Given the description of an element on the screen output the (x, y) to click on. 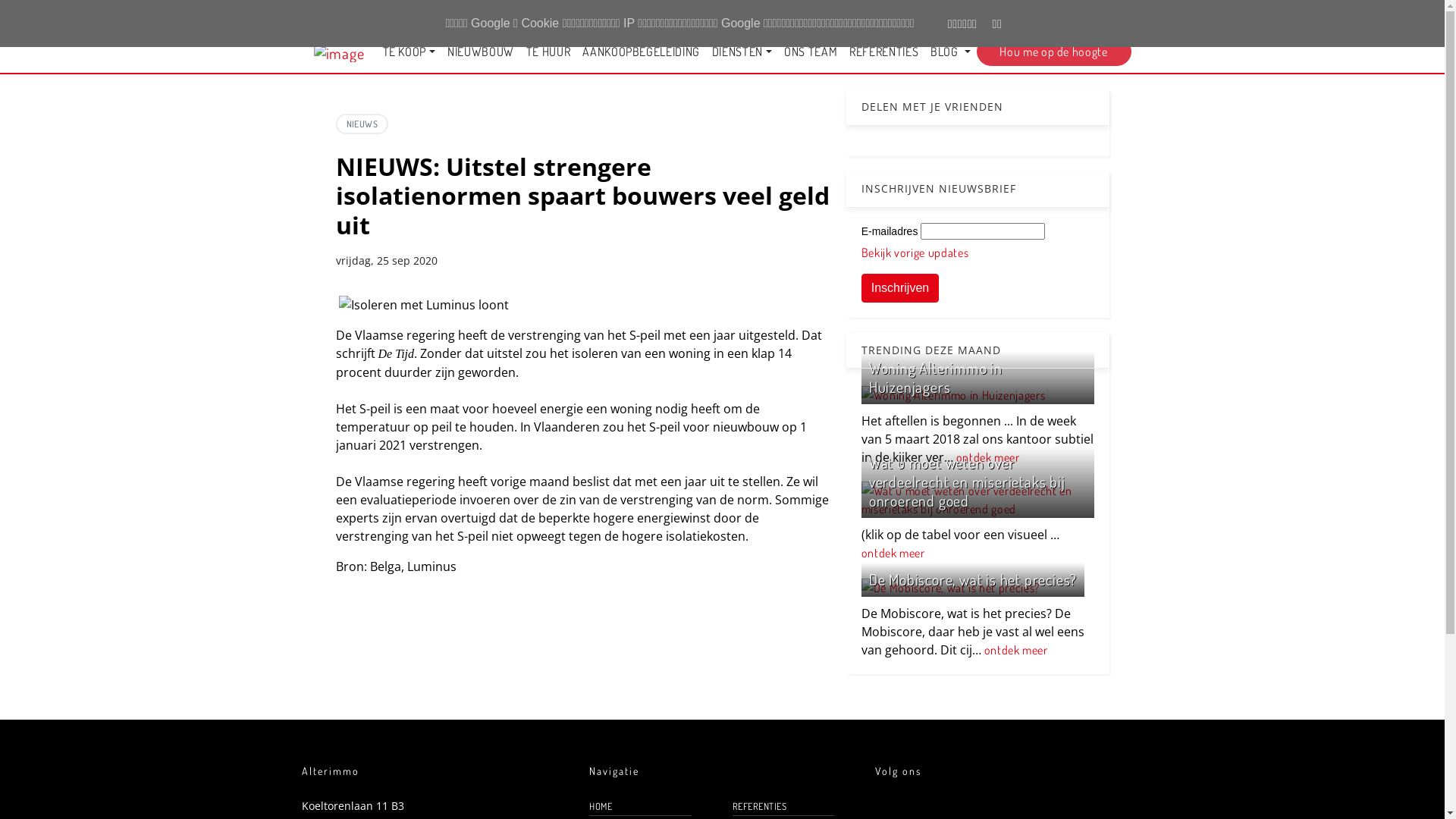
  Element type: text (1138, 15)
Bekijk vorige updates Element type: text (914, 252)
De Mobiscore, wat is het precies? Element type: text (972, 579)
BLOG  Element type: text (949, 51)
REFERENTIES Element type: text (883, 51)
  Eigenaarslogin Element type: text (1039, 15)
  Element type: text (1129, 15)
HOME Element type: text (639, 806)
TE HUUR Element type: text (548, 51)
DIENSTEN Element type: text (742, 51)
REFERENTIES Element type: text (783, 806)
  Element type: text (1094, 15)
  Element type: text (1121, 15)
NIEUWBOUW Element type: text (480, 51)
Hou me op de hoogte Element type: text (1053, 51)
ontdek meer Element type: text (1016, 649)
ontdek meer Element type: text (893, 552)
  Element type: text (1102, 15)
ontdek meer Element type: text (987, 456)
  Contacteer ons Element type: text (953, 15)
  Element type: text (1112, 15)
AANKOOPBEGELEIDING Element type: text (641, 51)
Inschrijven Element type: text (899, 287)
ONS TEAM Element type: text (810, 51)
  Element type: text (1085, 15)
NIEUWS Element type: text (361, 123)
TE KOOP Element type: text (408, 51)
Woning Alterimmo in Huizenjagers Element type: text (935, 376)
